Given the description of an element on the screen output the (x, y) to click on. 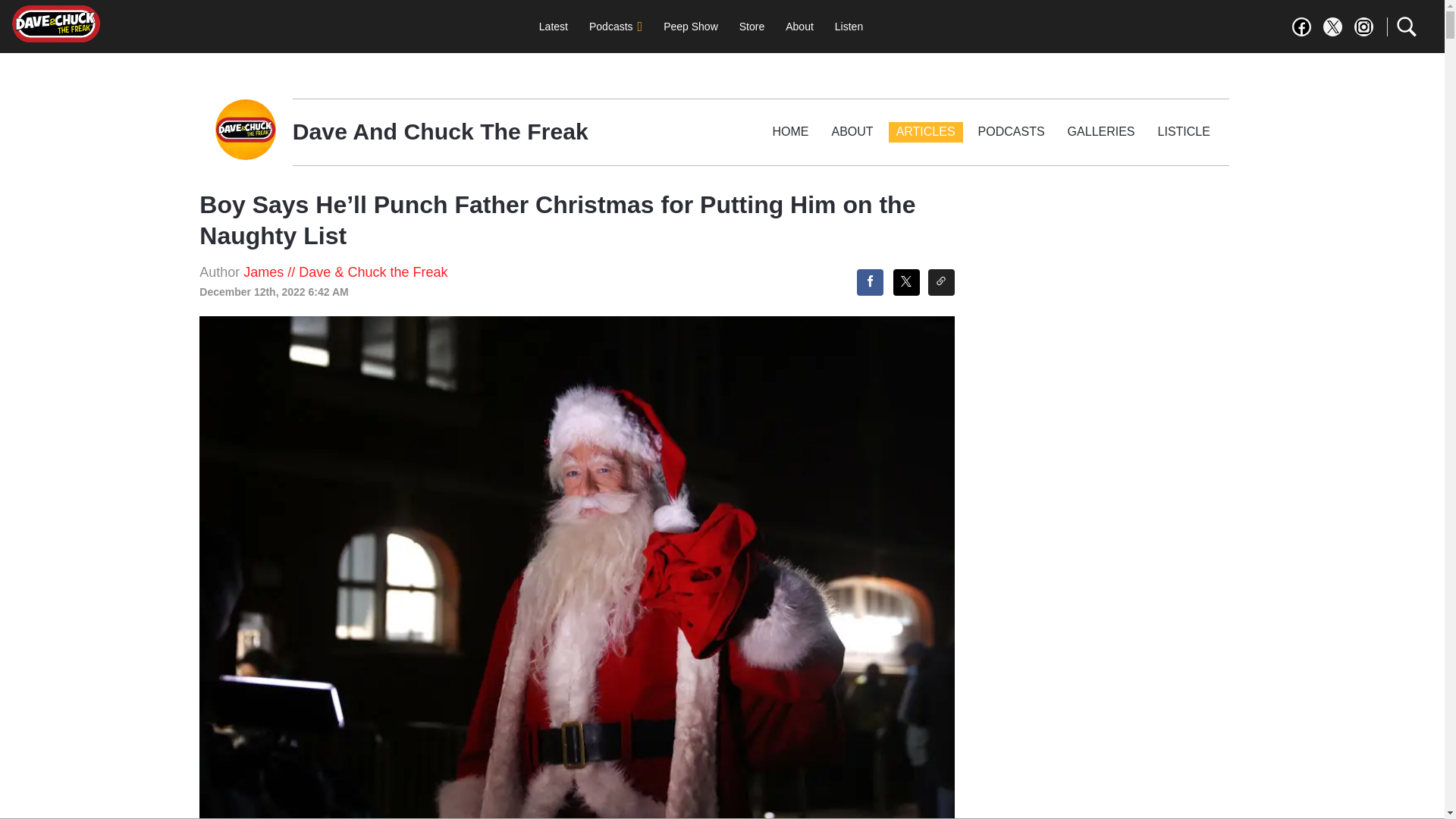
ABOUT (852, 132)
Latest (553, 26)
Podcasts (615, 26)
HOME (790, 132)
Listen (848, 26)
About (799, 26)
Store (751, 26)
PODCASTS (1011, 132)
GALLERIES (1100, 132)
ARTICLES (925, 132)
Peep Show (690, 26)
LISTICLE (1183, 132)
